Given the description of an element on the screen output the (x, y) to click on. 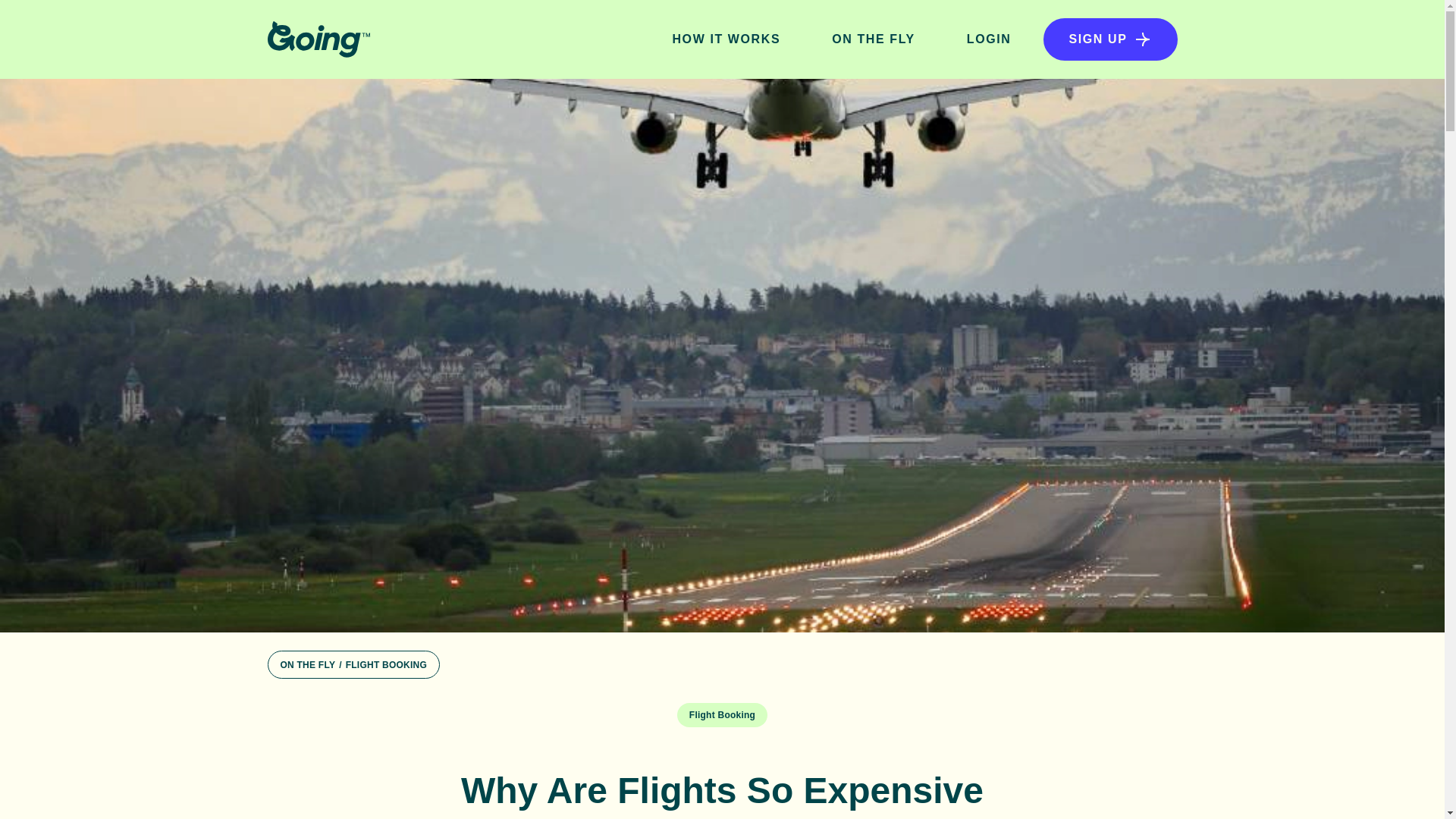
SIGN UP (1110, 39)
LOGIN (988, 39)
ON THE FLY (308, 665)
FLIGHT BOOKING (386, 665)
ON THE FLY (873, 39)
HOW IT WORKS (725, 39)
